Given the description of an element on the screen output the (x, y) to click on. 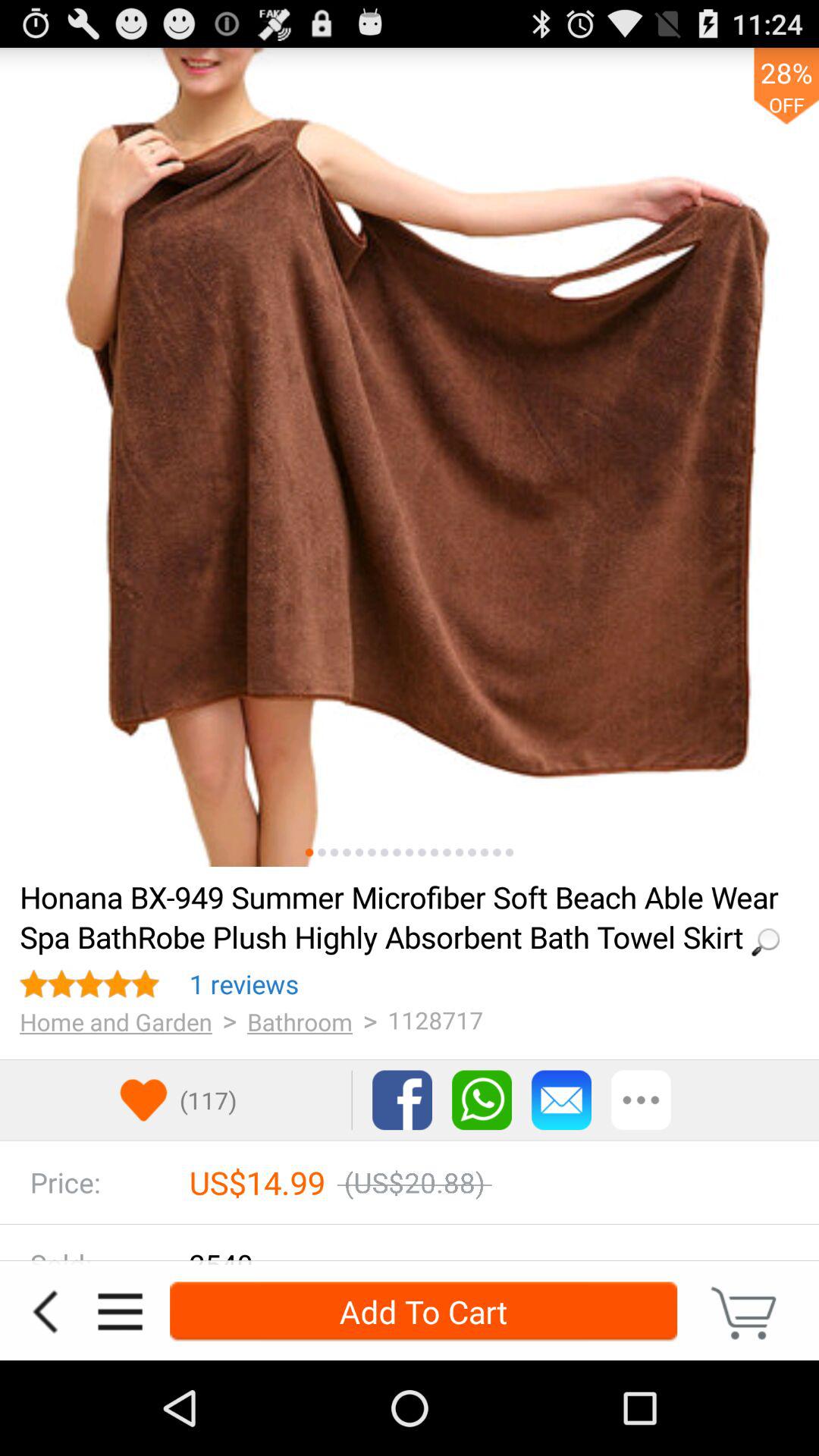
share to facebook (402, 1100)
